Given the description of an element on the screen output the (x, y) to click on. 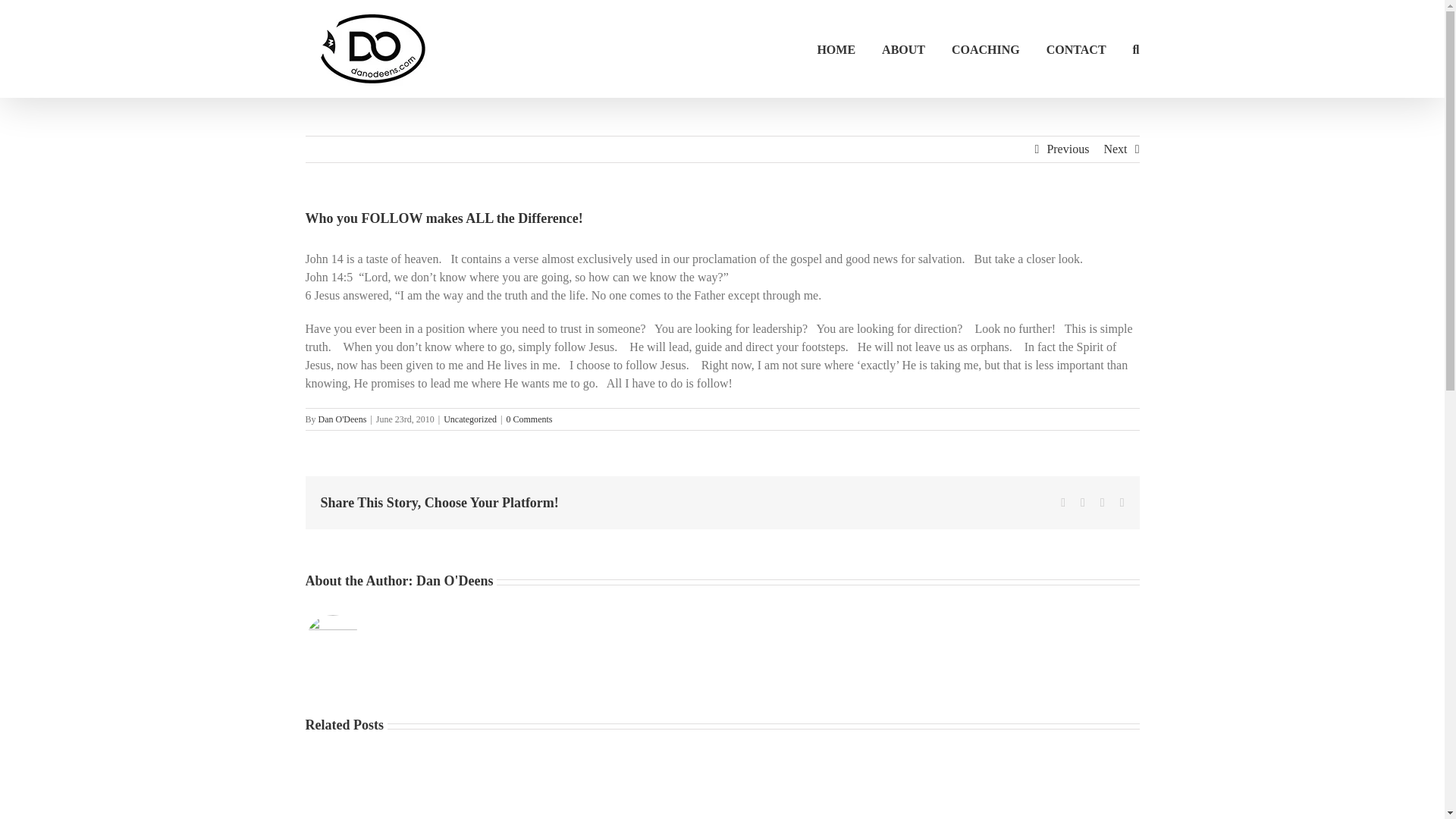
Next (1114, 149)
Uncategorized (470, 419)
0 Comments (529, 419)
Posts by Dan O'Deens (342, 419)
Dan O'Deens (454, 580)
Previous (1067, 149)
Posts by Dan O'Deens (454, 580)
Dan O'Deens (342, 419)
